Given the description of an element on the screen output the (x, y) to click on. 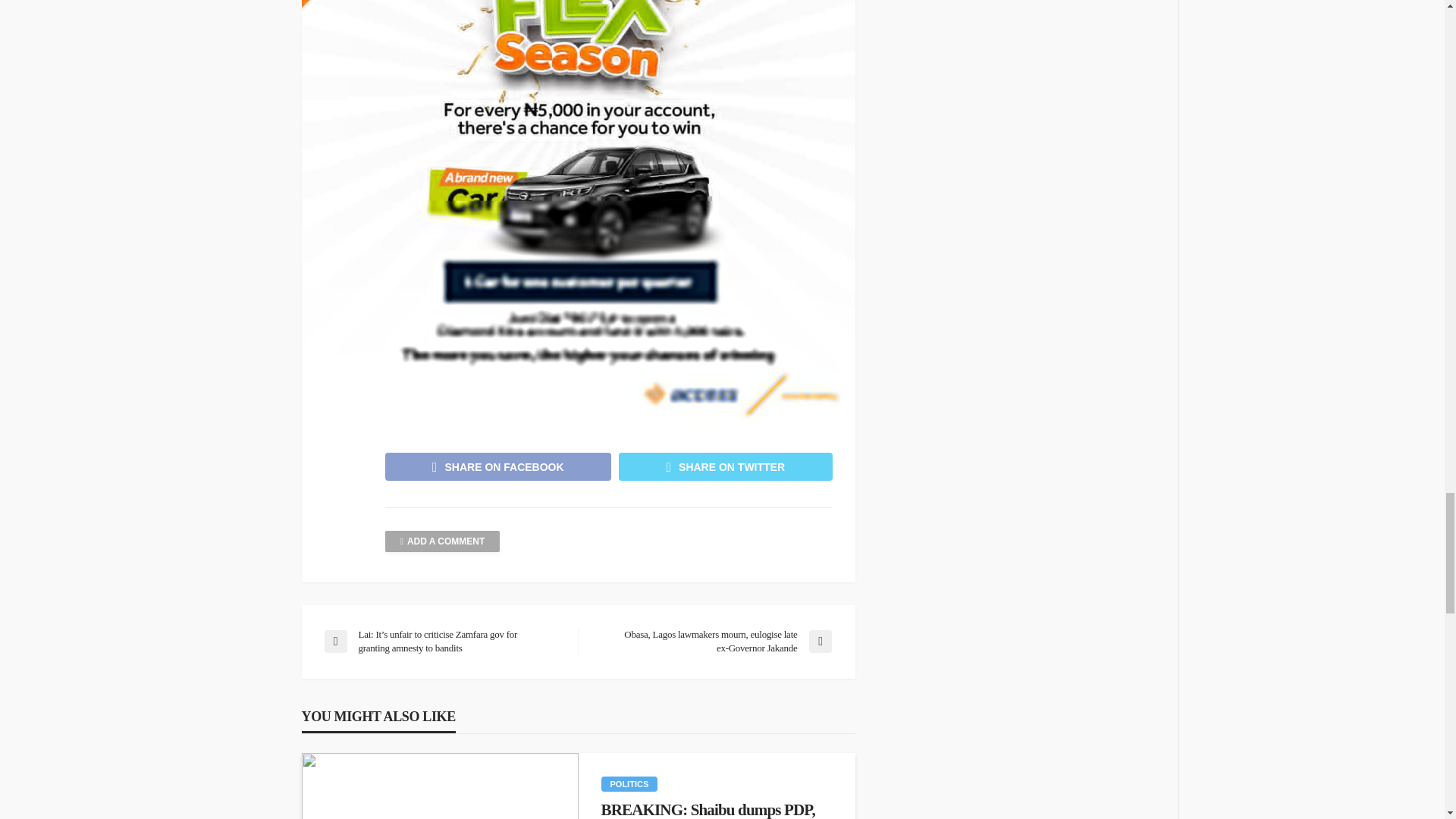
POLITICS (628, 783)
BREAKING: Shaibu dumps PDP, returns to APC (715, 809)
BREAKING: Shaibu dumps PDP, returns to APC (439, 785)
